Given the description of an element on the screen output the (x, y) to click on. 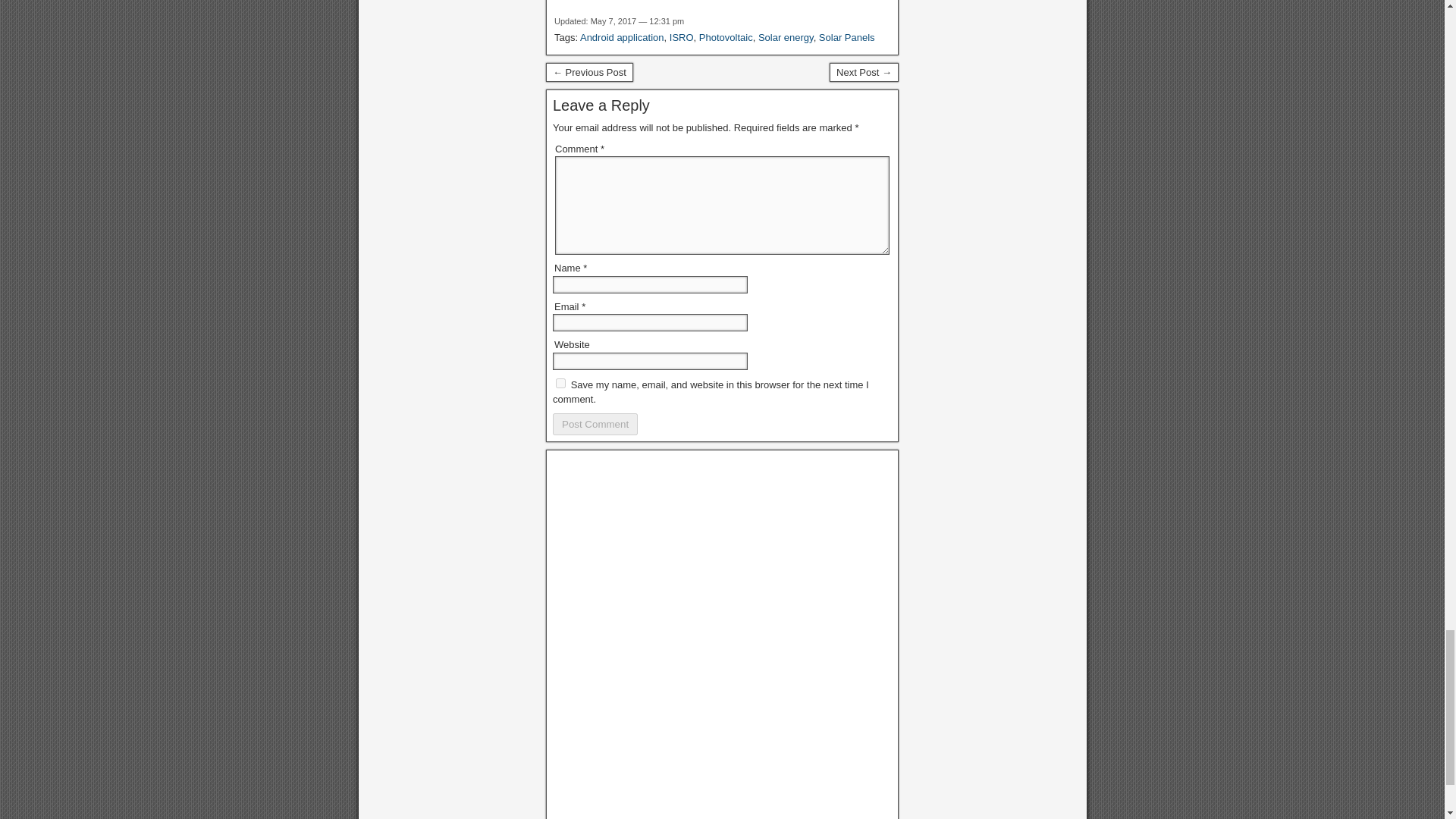
Post Comment (595, 423)
yes (561, 383)
